Given the description of an element on the screen output the (x, y) to click on. 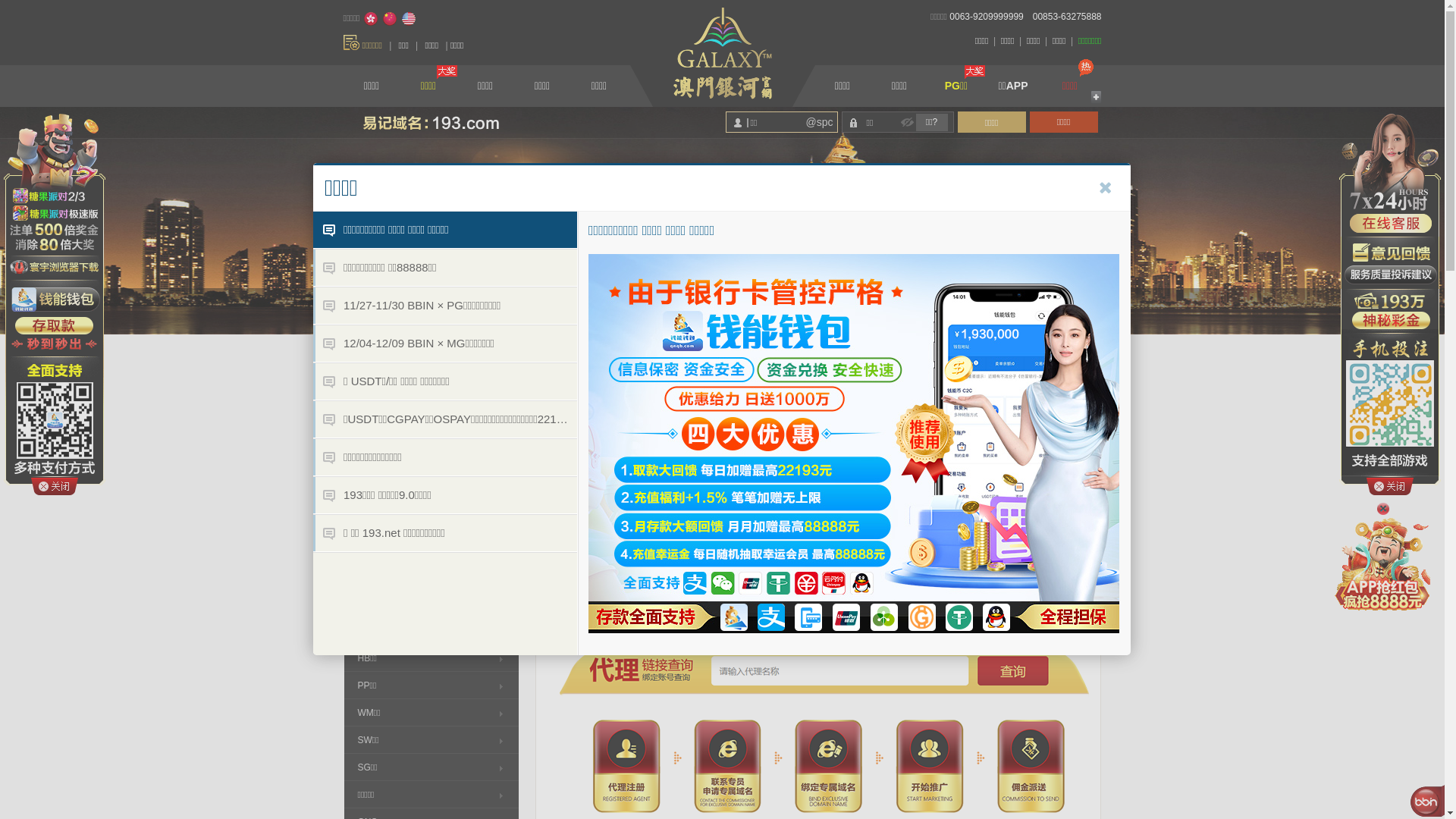
English Element type: hover (408, 18)
